Given the description of an element on the screen output the (x, y) to click on. 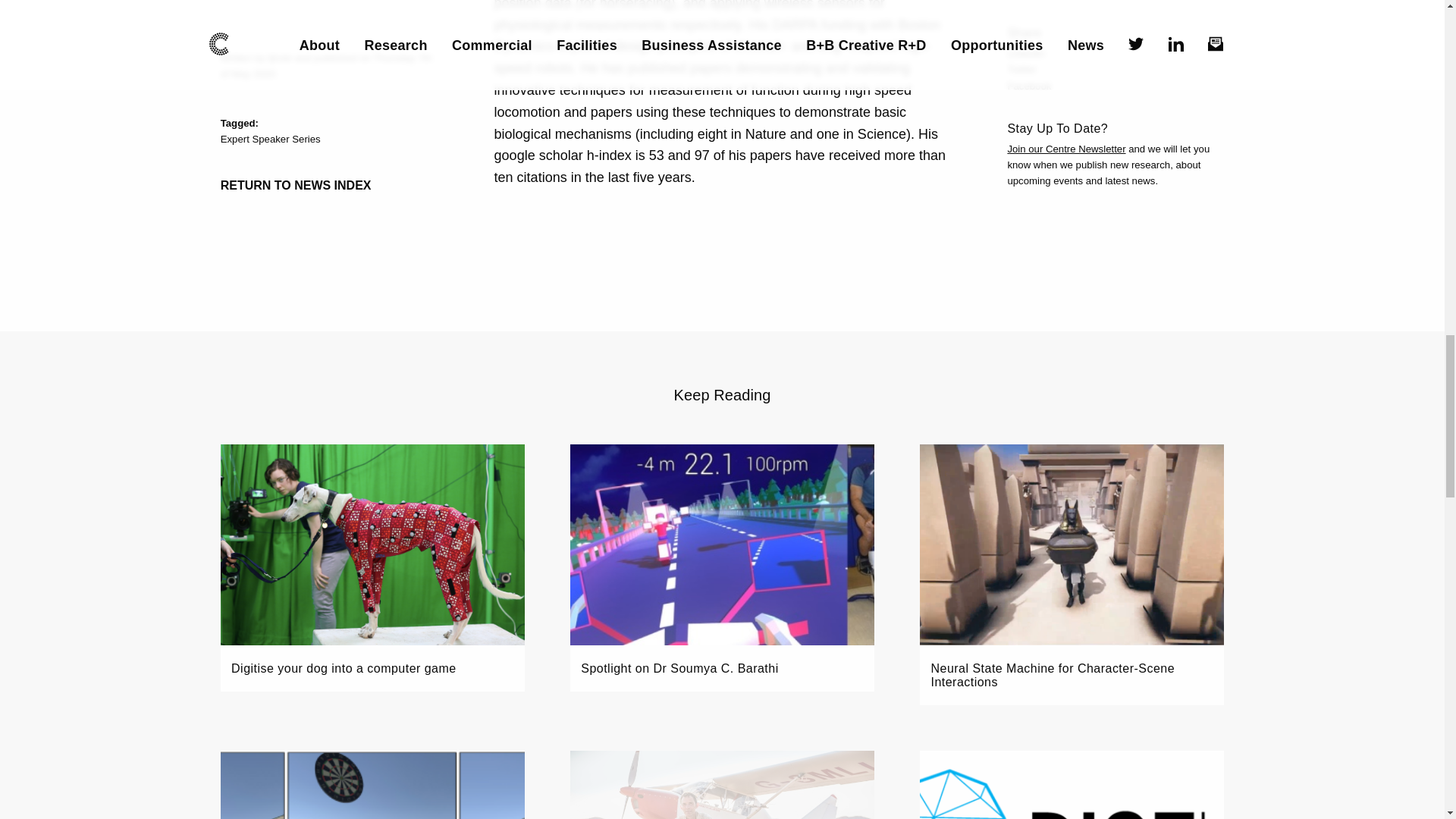
Neural State Machine for Character-Scene Interactions (1072, 574)
Digitise your dog into a computer game (372, 567)
Spotlight on Dr Soumya C. Barathi (722, 567)
Influence of Perspective on Dynamic Tasks in Virtual Reality (372, 785)
